Given the description of an element on the screen output the (x, y) to click on. 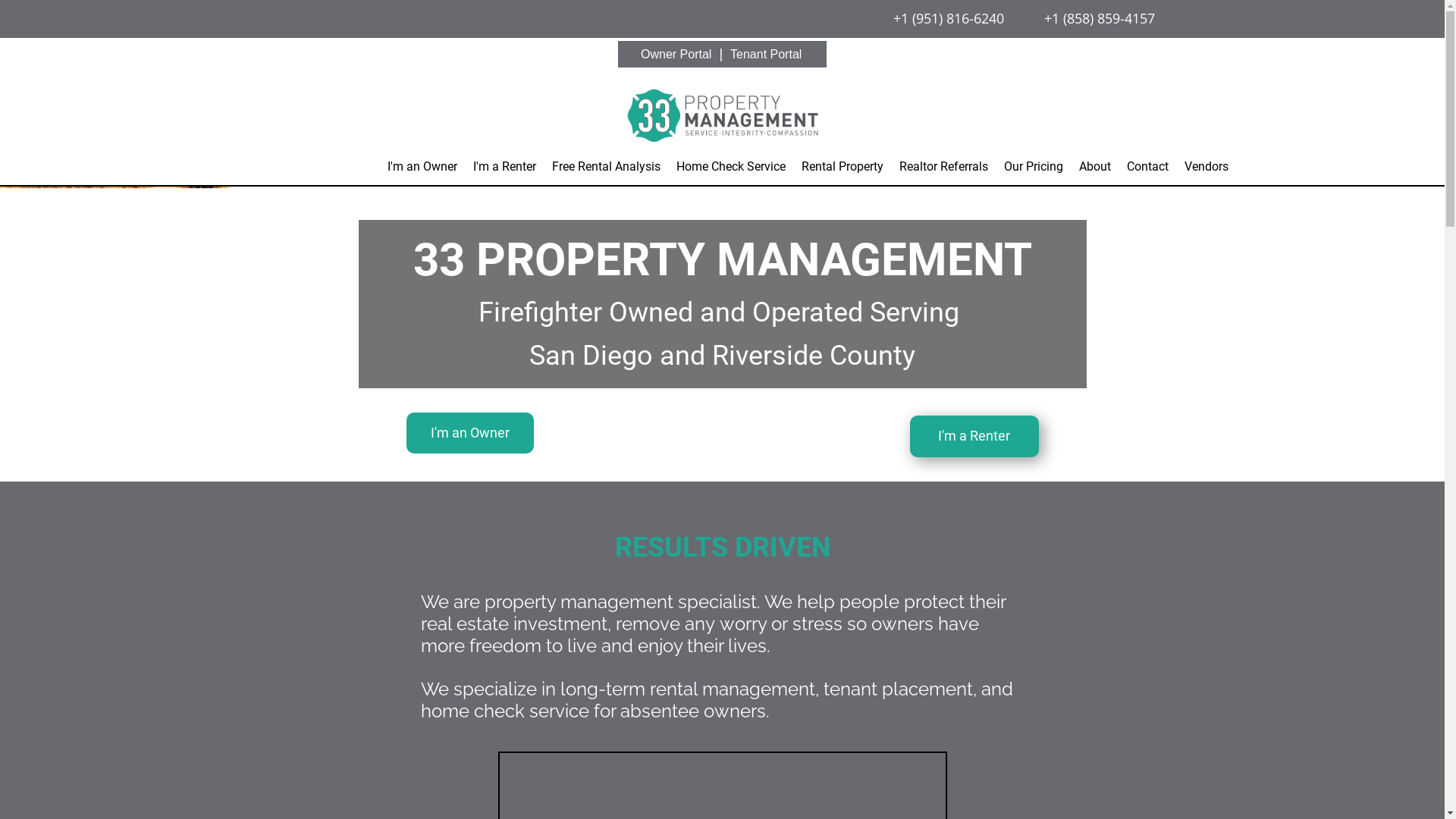
I'm an Owner Element type: text (469, 433)
Our Pricing Element type: text (1033, 166)
I'm an Owner Element type: text (421, 166)
Contact Element type: text (1147, 166)
Tenant Portal Element type: text (765, 53)
Rental Property Element type: text (841, 166)
About Element type: text (1094, 166)
I'm a Renter Element type: text (504, 166)
Free Rental Analysis Element type: text (606, 166)
Owner Portal Element type: text (675, 53)
I'm a Renter Element type: text (974, 436)
Home Check Service Element type: text (730, 166)
 +1 (858) 859-4157 Element type: text (1097, 18)
+1 (951) 816-6240 Element type: text (948, 18)
Vendors Element type: text (1206, 166)
Realtor Referrals Element type: text (943, 166)
